Given the description of an element on the screen output the (x, y) to click on. 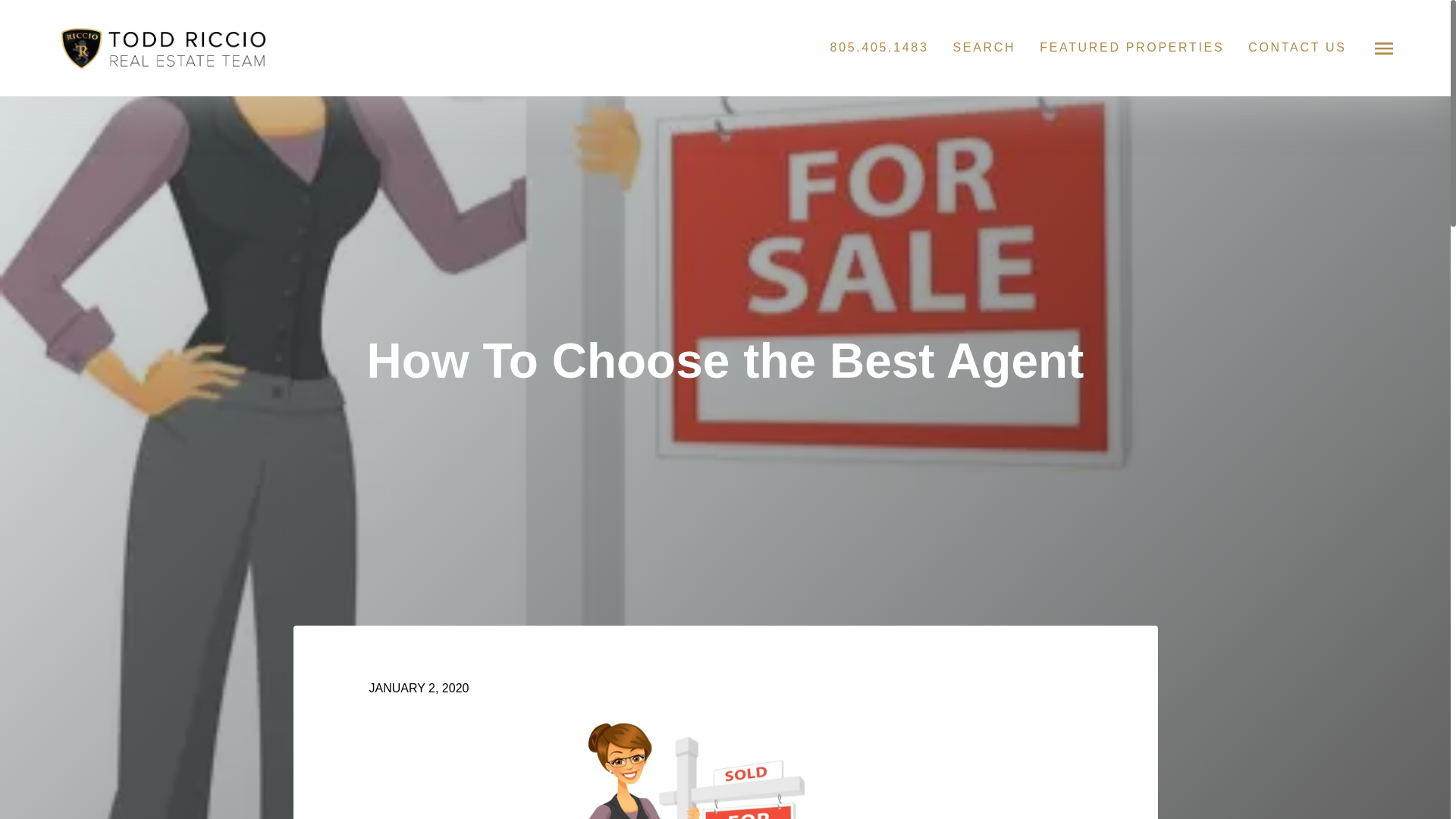
CONTACT US (1296, 47)
How To Choose the Best Agent (724, 771)
SEARCH (983, 47)
FEATURED PROPERTIES (1131, 47)
805.405.1483 (878, 47)
